Given the description of an element on the screen output the (x, y) to click on. 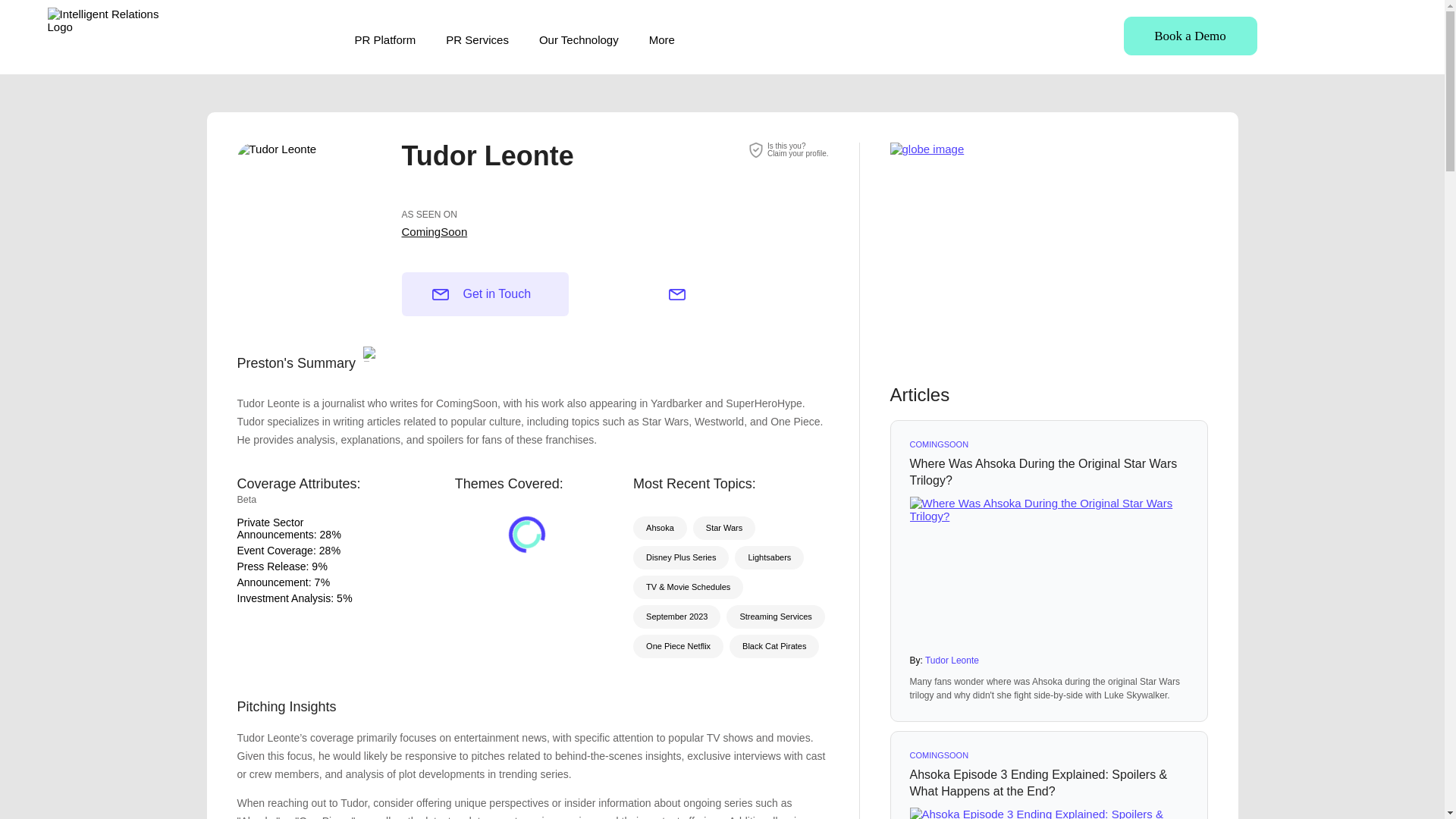
Book a Demo (1190, 35)
Get in Touch (485, 293)
28 (324, 534)
ComingSoon (434, 231)
28 (324, 550)
More (662, 39)
PR Platform (385, 39)
PR Services (476, 39)
Our Technology (578, 39)
